Given the description of an element on the screen output the (x, y) to click on. 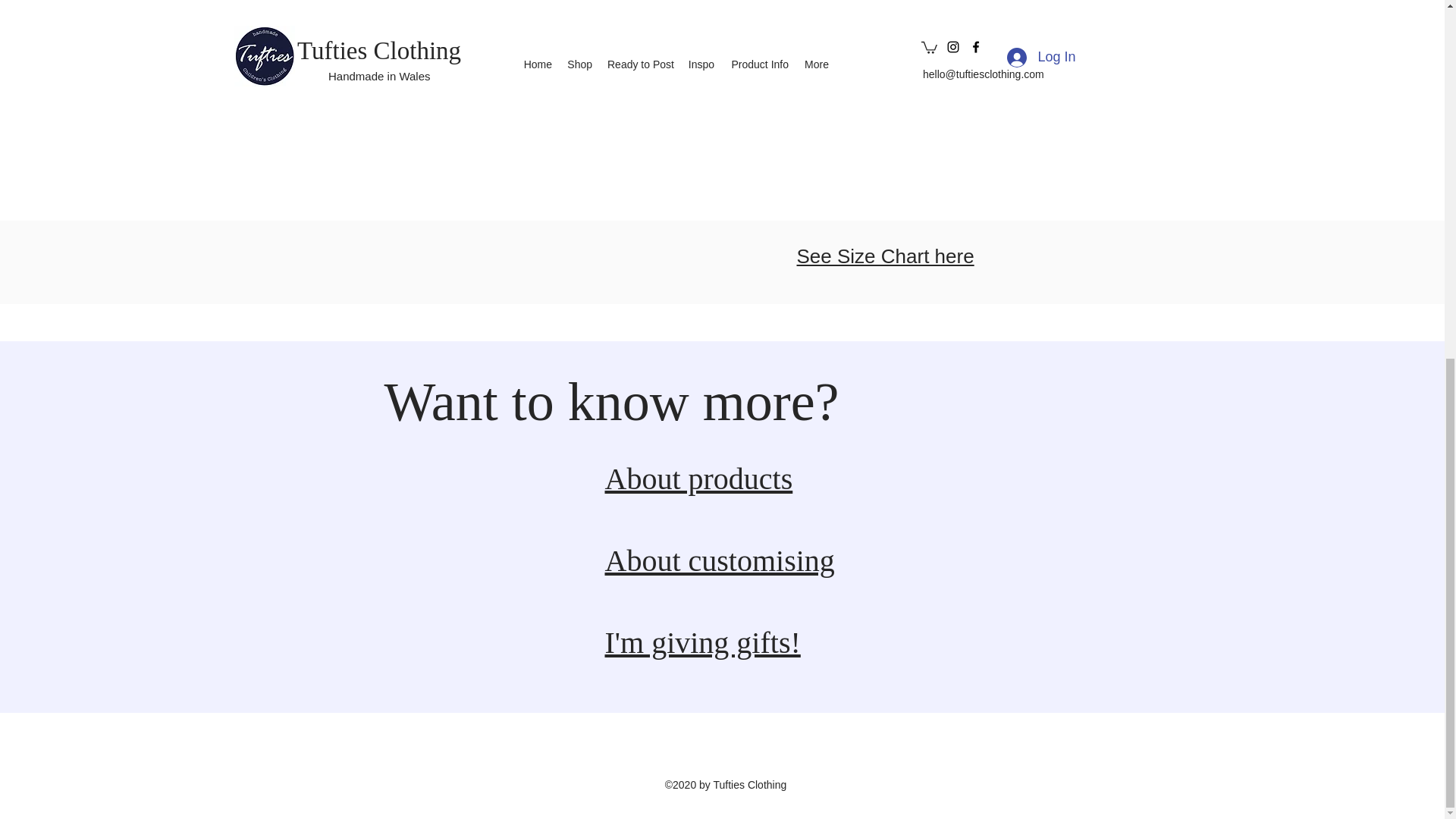
About products (699, 478)
I'm giving gifts! (702, 642)
About customising (719, 560)
See Size Chart here (885, 255)
